Given the description of an element on the screen output the (x, y) to click on. 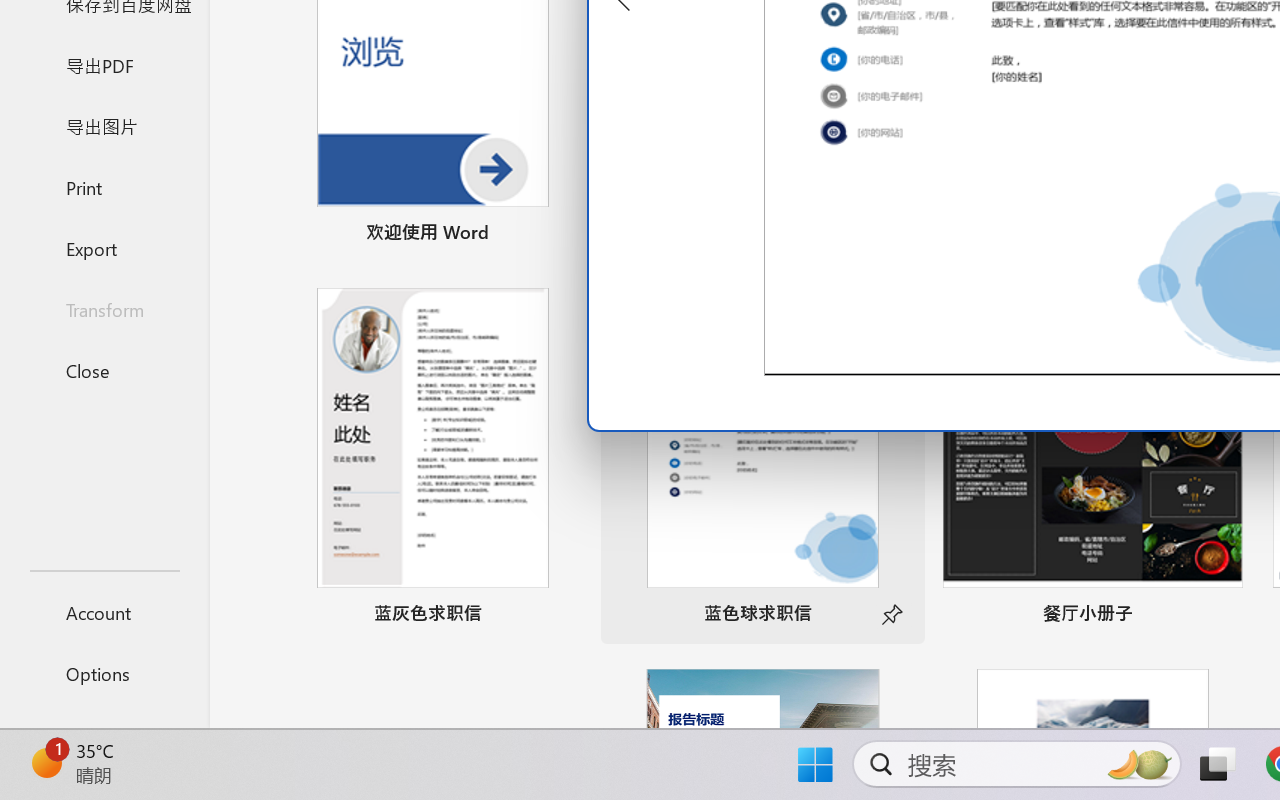
Options (104, 673)
